Given the description of an element on the screen output the (x, y) to click on. 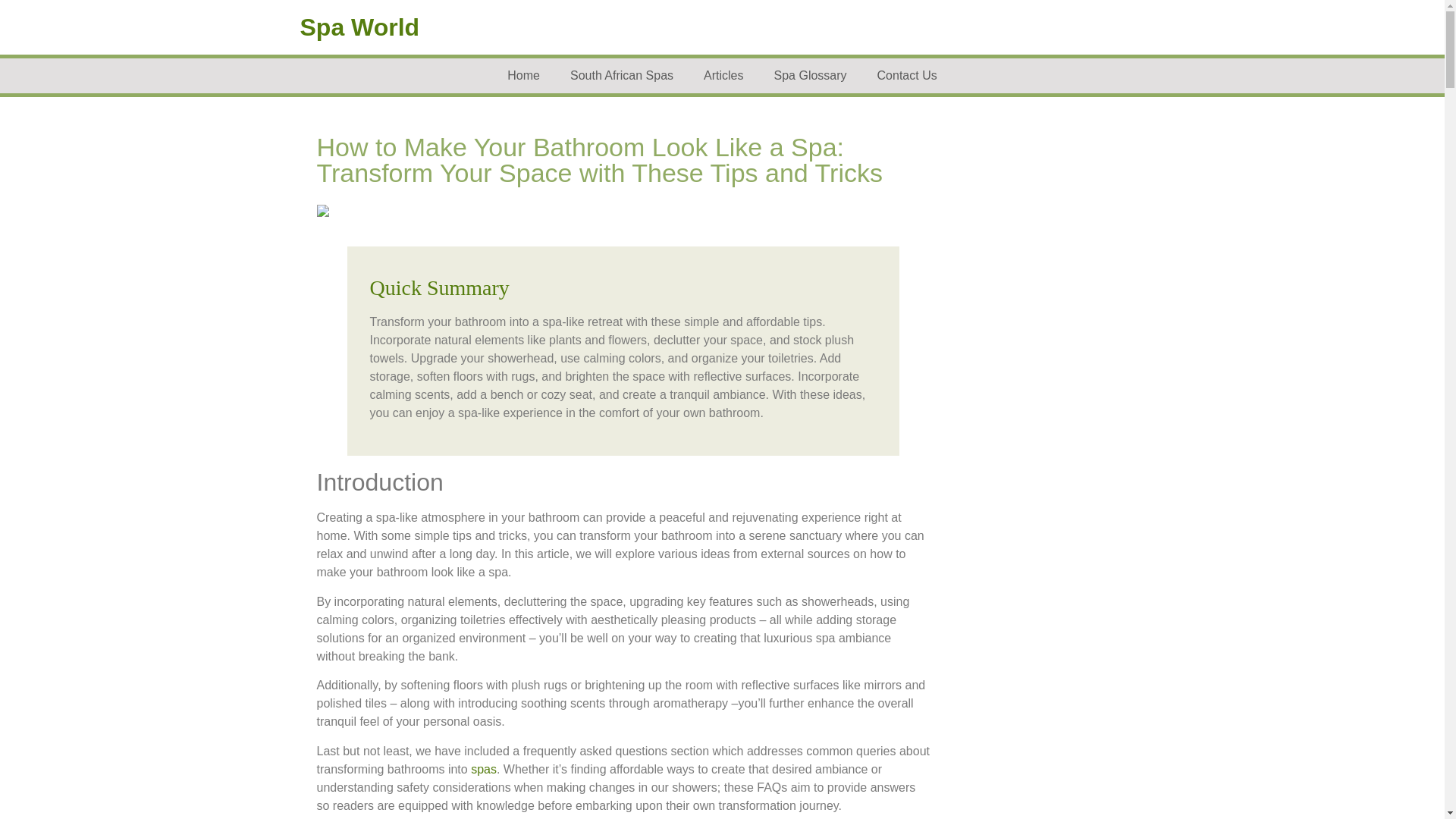
spas (483, 768)
Spa World (359, 26)
Spa Glossary (809, 75)
spas (483, 768)
Home (523, 75)
Articles (723, 75)
Contact Us (906, 75)
South African Spas (621, 75)
